Given the description of an element on the screen output the (x, y) to click on. 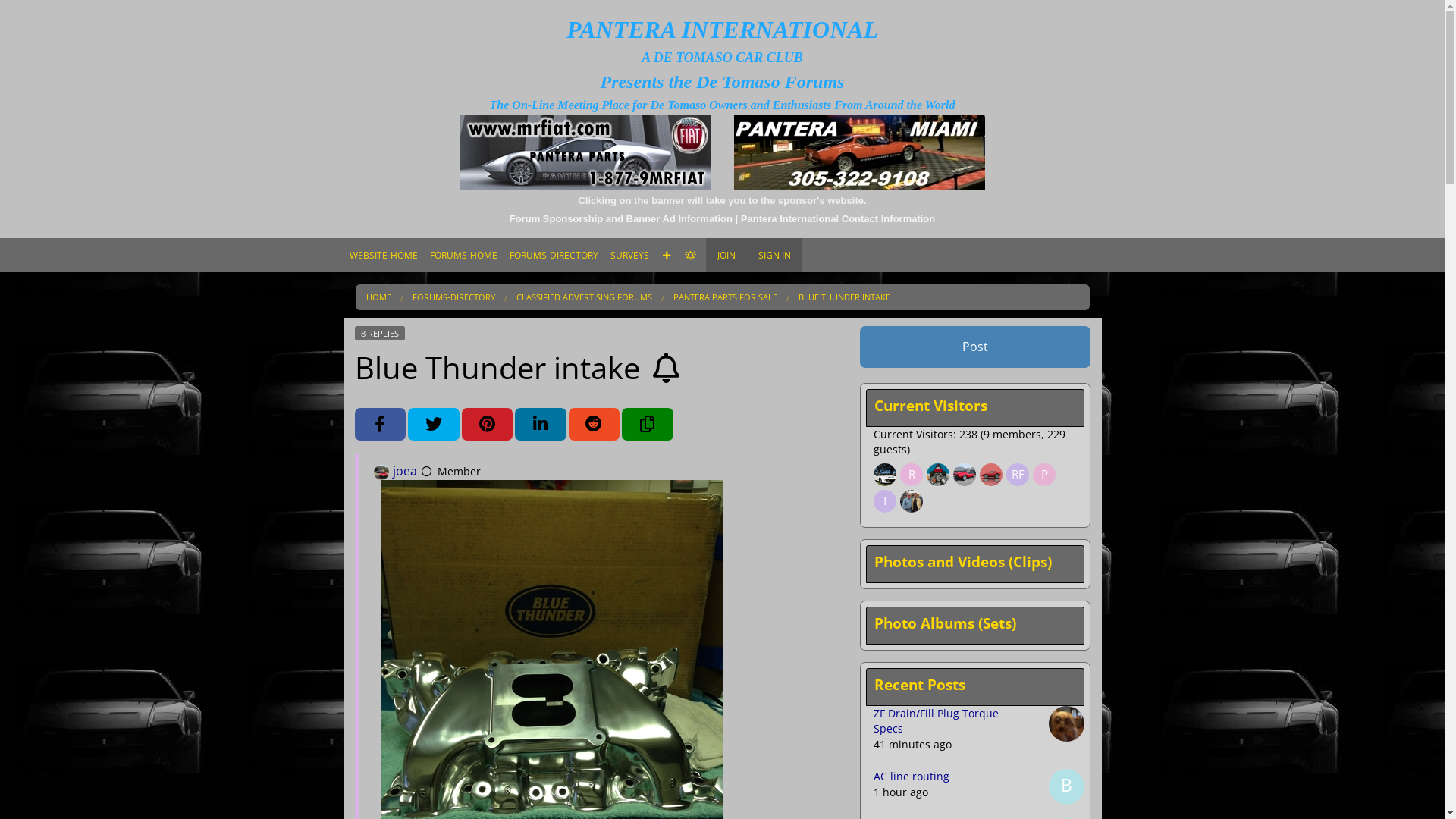
SURVEYS Element type: text (628, 255)
BUYER AND OWNER INFORMATION FORUMS Element type: text (553, 446)
ZF Drain/Fill Plug Torque Specs Element type: text (935, 720)
CLASSIFIED ADVERTISING FORUMS Element type: text (553, 419)
Forum Sponsorship and Banner Ad Information Element type: text (620, 218)
PANTERA PARTS FOR SALE Element type: text (725, 296)
B Element type: text (1066, 786)
FORUMS-HOME Element type: text (462, 255)
Post Element type: text (974, 346)
JOIN Element type: text (725, 255)
DIRECTORY Element type: text (553, 285)
SIGN IN Element type: text (773, 255)
R Element type: text (913, 474)
joea Element type: hover (380, 472)
RF Element type: text (1019, 474)
HOME Element type: text (377, 296)
SOCIALIZING FORUMS Element type: text (553, 366)
T Element type: text (886, 501)
FORUMS-DIRECTORY Element type: text (453, 296)
CLASSIFIED ADVERTISING FORUMS Element type: text (583, 296)
ALL TOPICS Element type: text (553, 311)
AC line routing Element type: text (911, 775)
Pantera International Contact Information Element type: text (837, 218)
joea Element type: text (404, 470)
WEBSITE-HOME Element type: text (382, 255)
P Element type: text (1045, 474)
FORUMS-DIRECTORY Element type: text (553, 255)
TECHNICAL INFORMATION FORUMS Element type: text (553, 472)
NEWS FORUMS Element type: text (553, 339)
PHOTOGRAPH AND VIDEO FORUMS Element type: text (553, 392)
9D7DC206-09BA-48E5-BE7F-B9346C31D975 Element type: hover (551, 710)
